Given the description of an element on the screen output the (x, y) to click on. 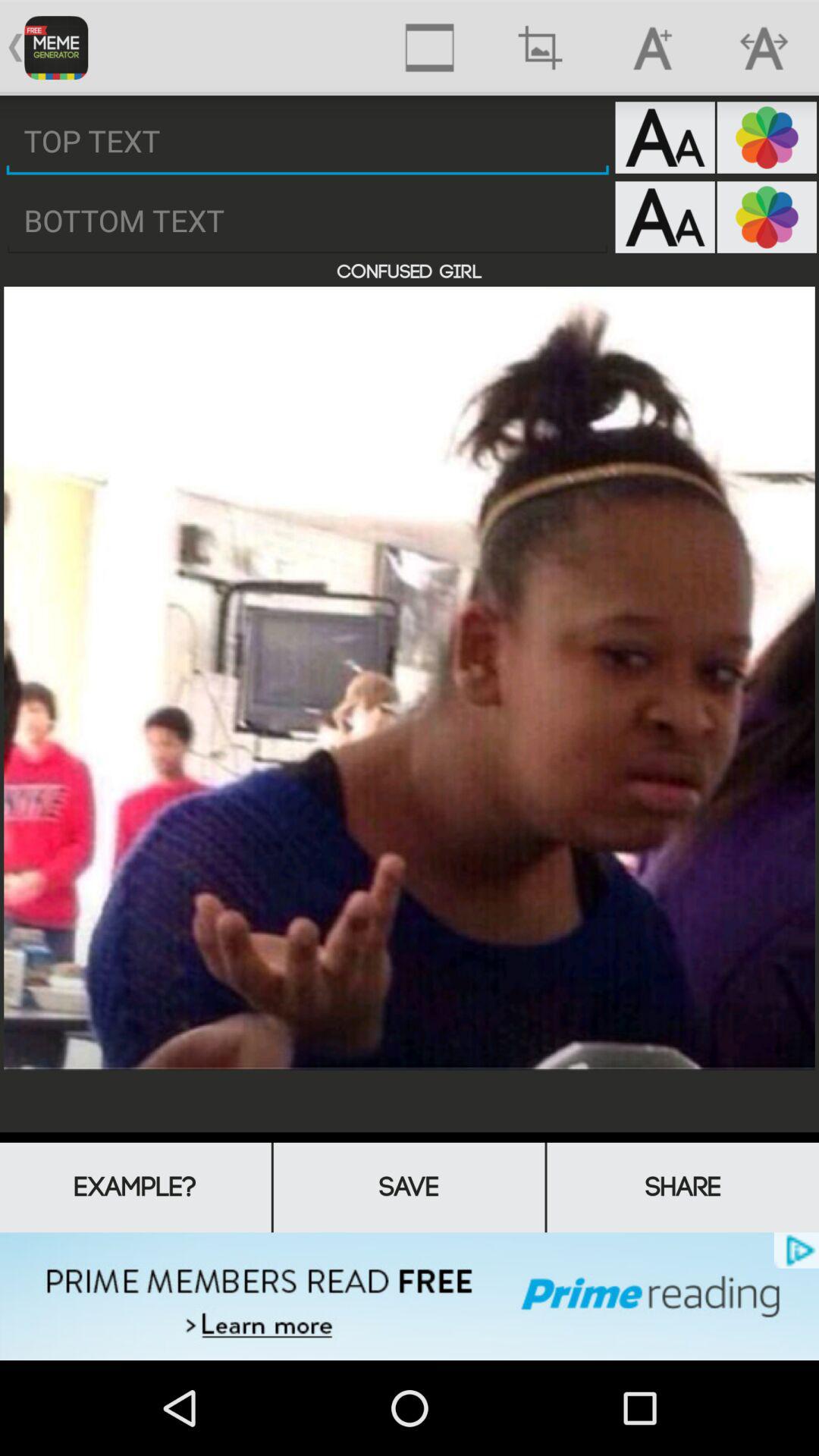
text type (664, 217)
